Given the description of an element on the screen output the (x, y) to click on. 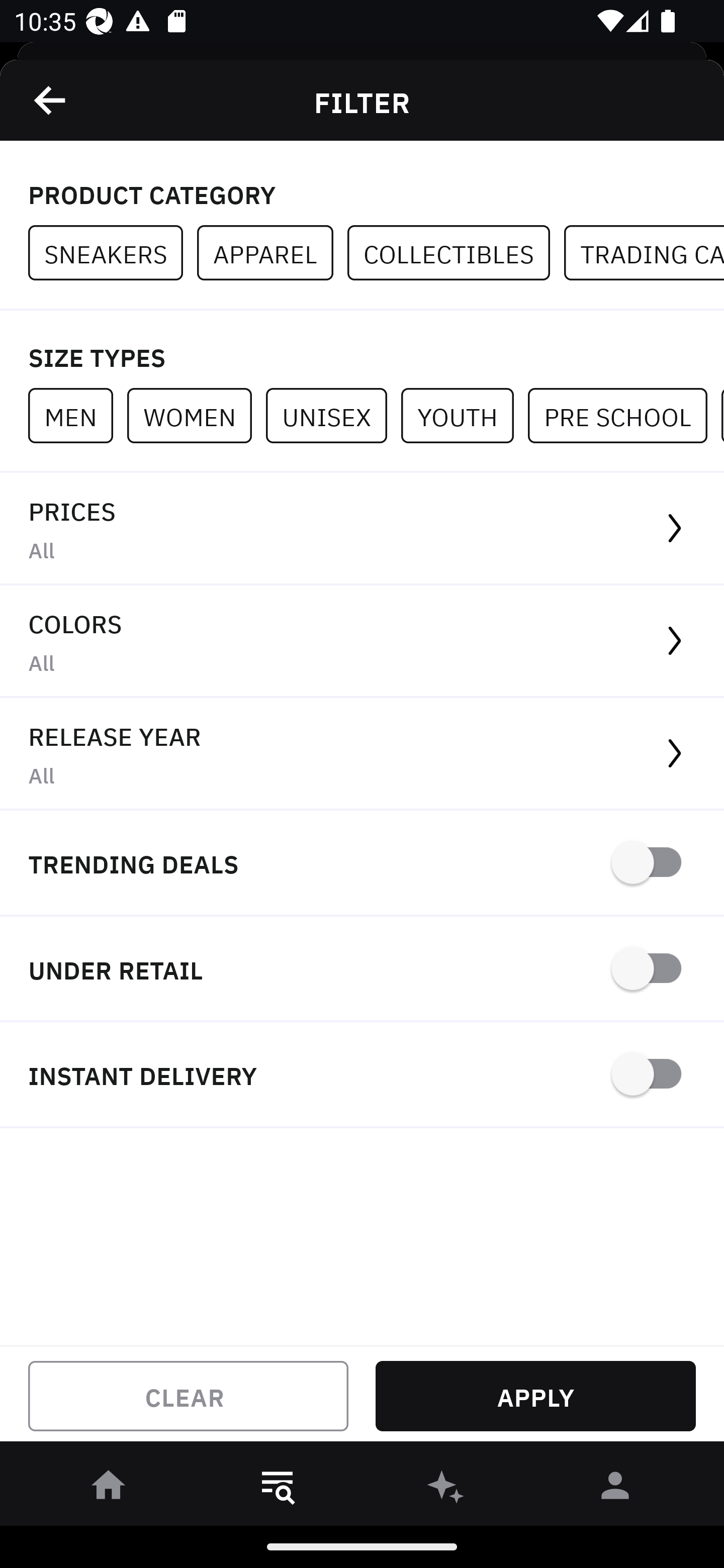
 (50, 100)
SNEAKERS (112, 252)
APPAREL (271, 252)
COLLECTIBLES (455, 252)
TRADING CARDS (643, 252)
MEN (77, 415)
WOMEN (196, 415)
UNISEX (333, 415)
YOUTH (464, 415)
PRE SCHOOL (624, 415)
PRICES All (362, 528)
COLORS All (362, 640)
RELEASE YEAR All (362, 753)
TRENDING DEALS (362, 863)
UNDER RETAIL (362, 969)
INSTANT DELIVERY (362, 1075)
CLEAR  (188, 1396)
APPLY (535, 1396)
󰋜 (108, 1488)
󱎸 (277, 1488)
󰫢 (446, 1488)
󰀄 (615, 1488)
